Given the description of an element on the screen output the (x, y) to click on. 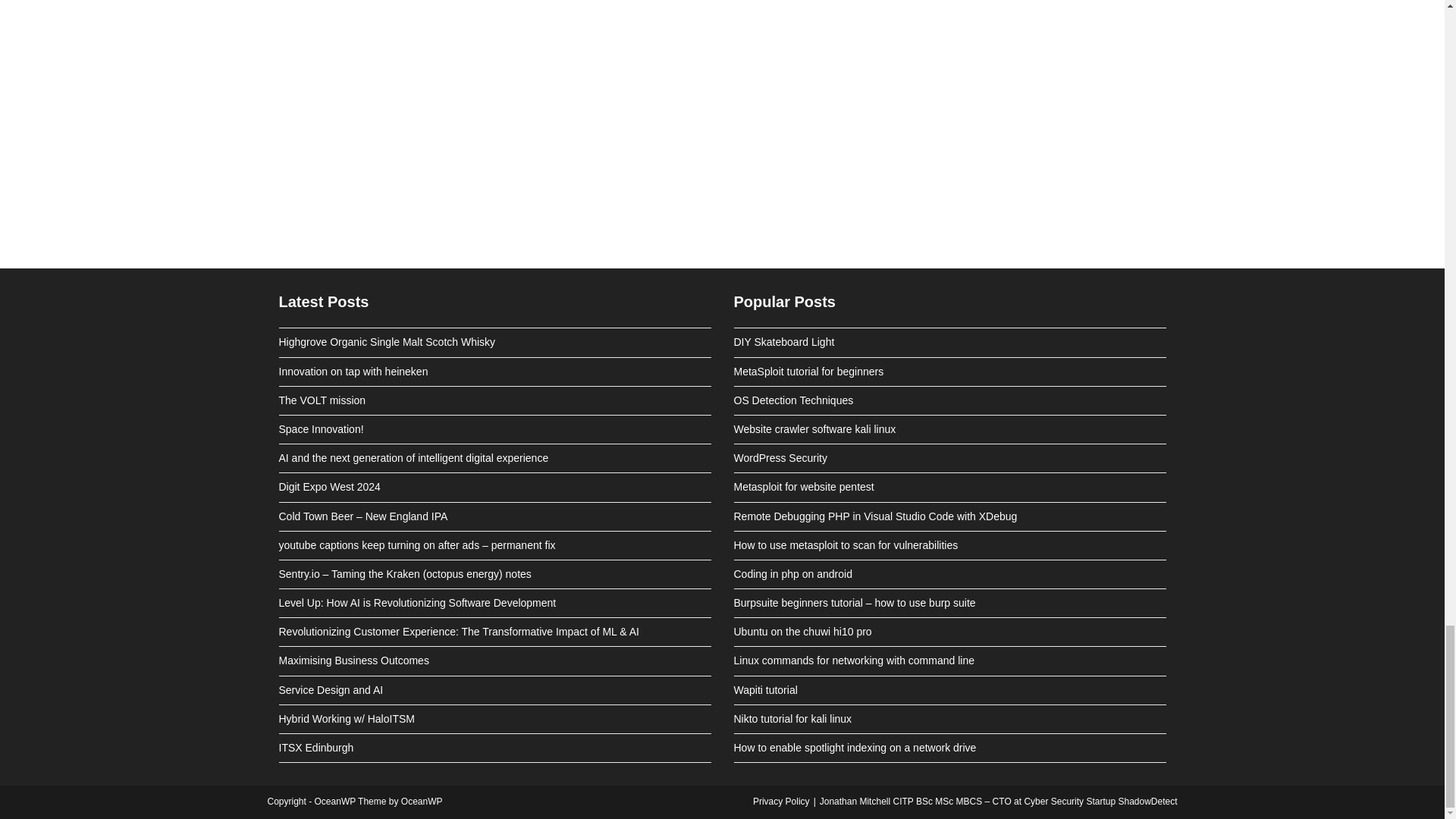
Comment Form (721, 104)
